Given the description of an element on the screen output the (x, y) to click on. 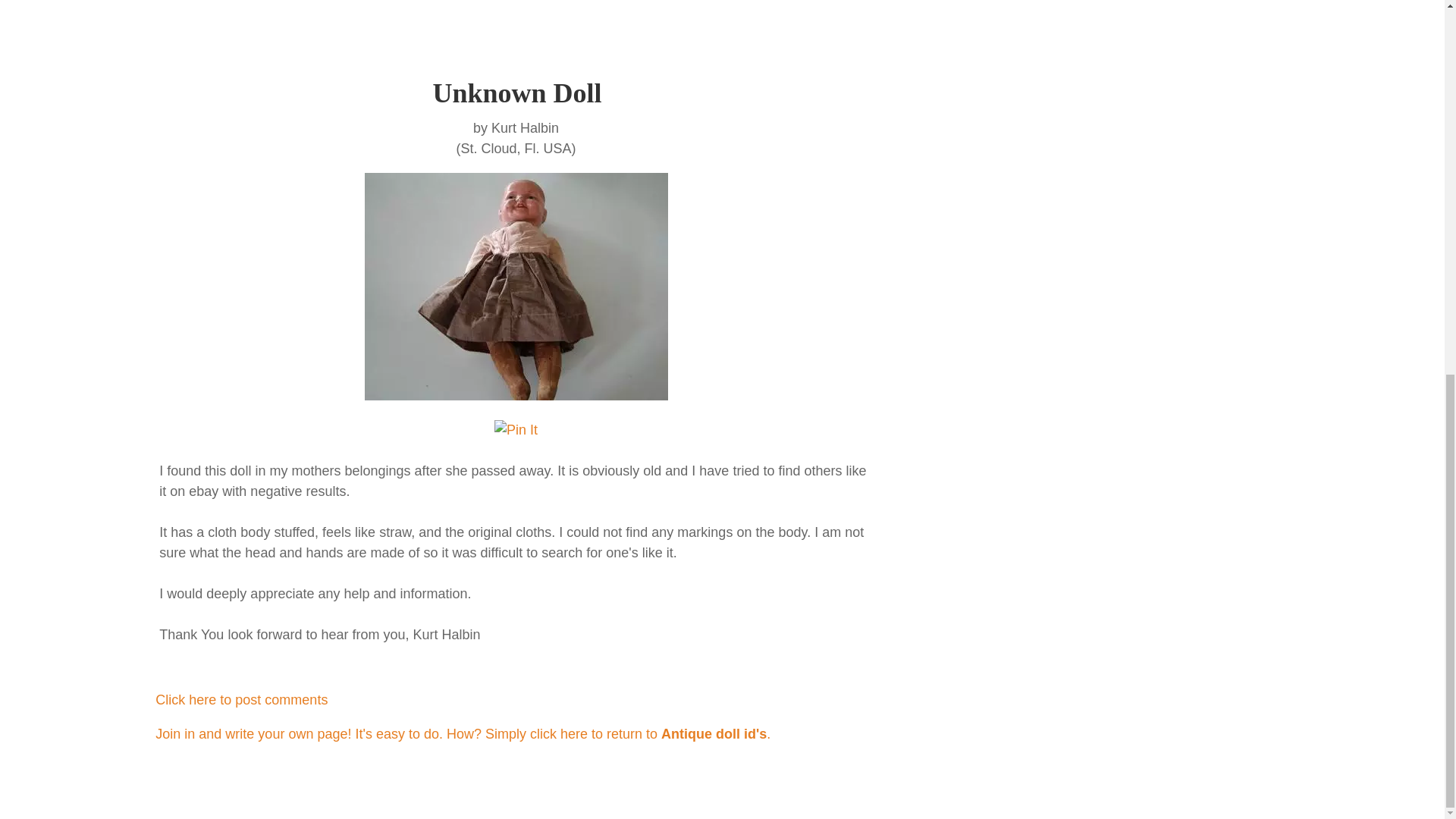
Pin It (516, 430)
Advertisement (231, 19)
